Given the description of an element on the screen output the (x, y) to click on. 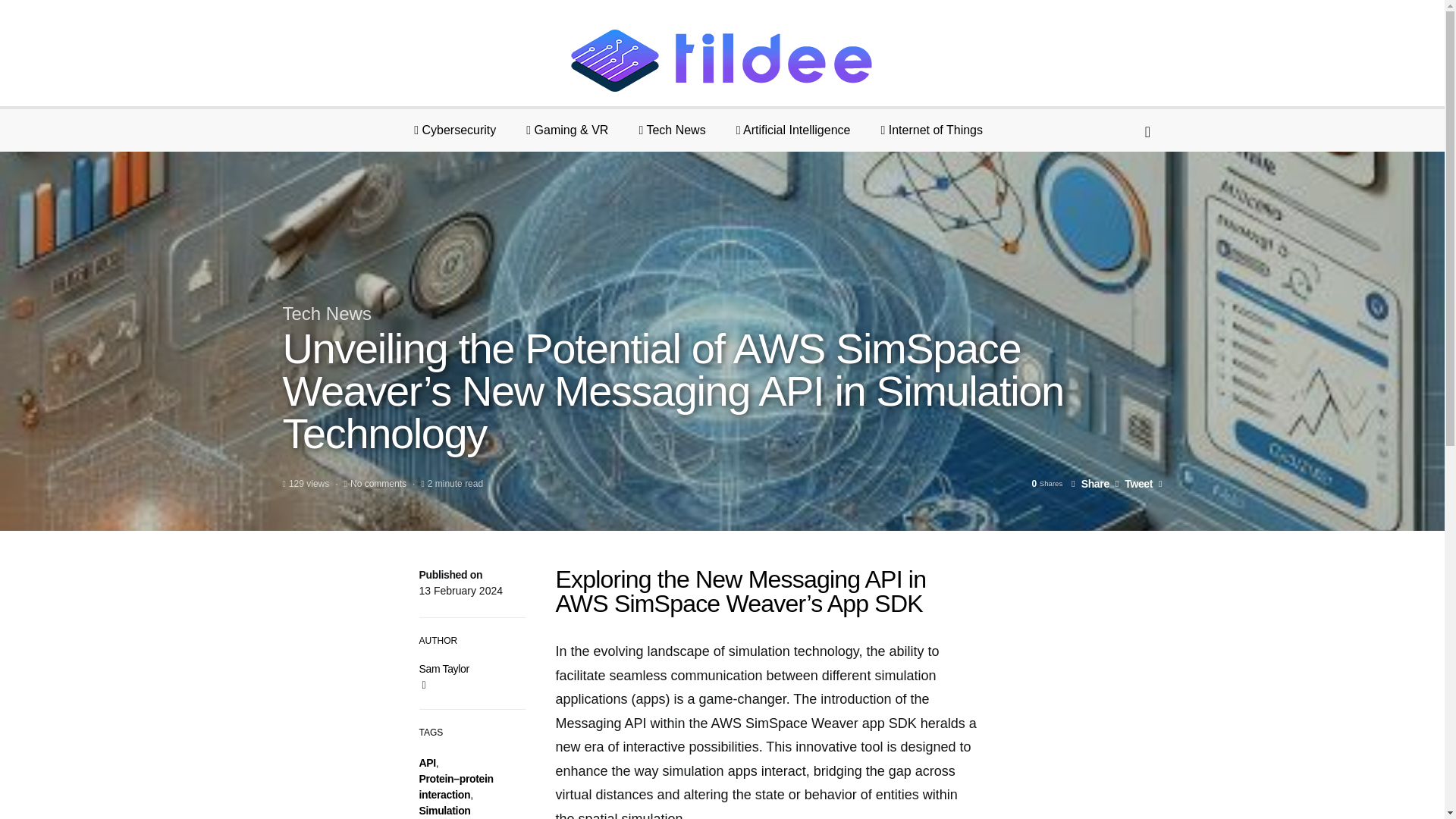
Tweet (1134, 483)
Sam Taylor (443, 668)
No comments (378, 483)
Tech News (326, 313)
Share (1090, 483)
API (427, 762)
Simulation (444, 810)
